Given the description of an element on the screen output the (x, y) to click on. 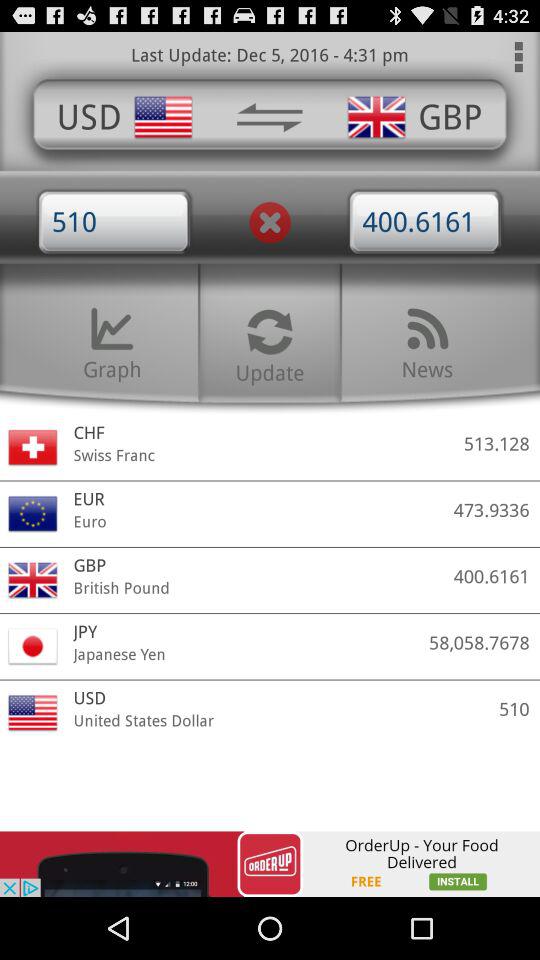
switch close option (269, 222)
